Given the description of an element on the screen output the (x, y) to click on. 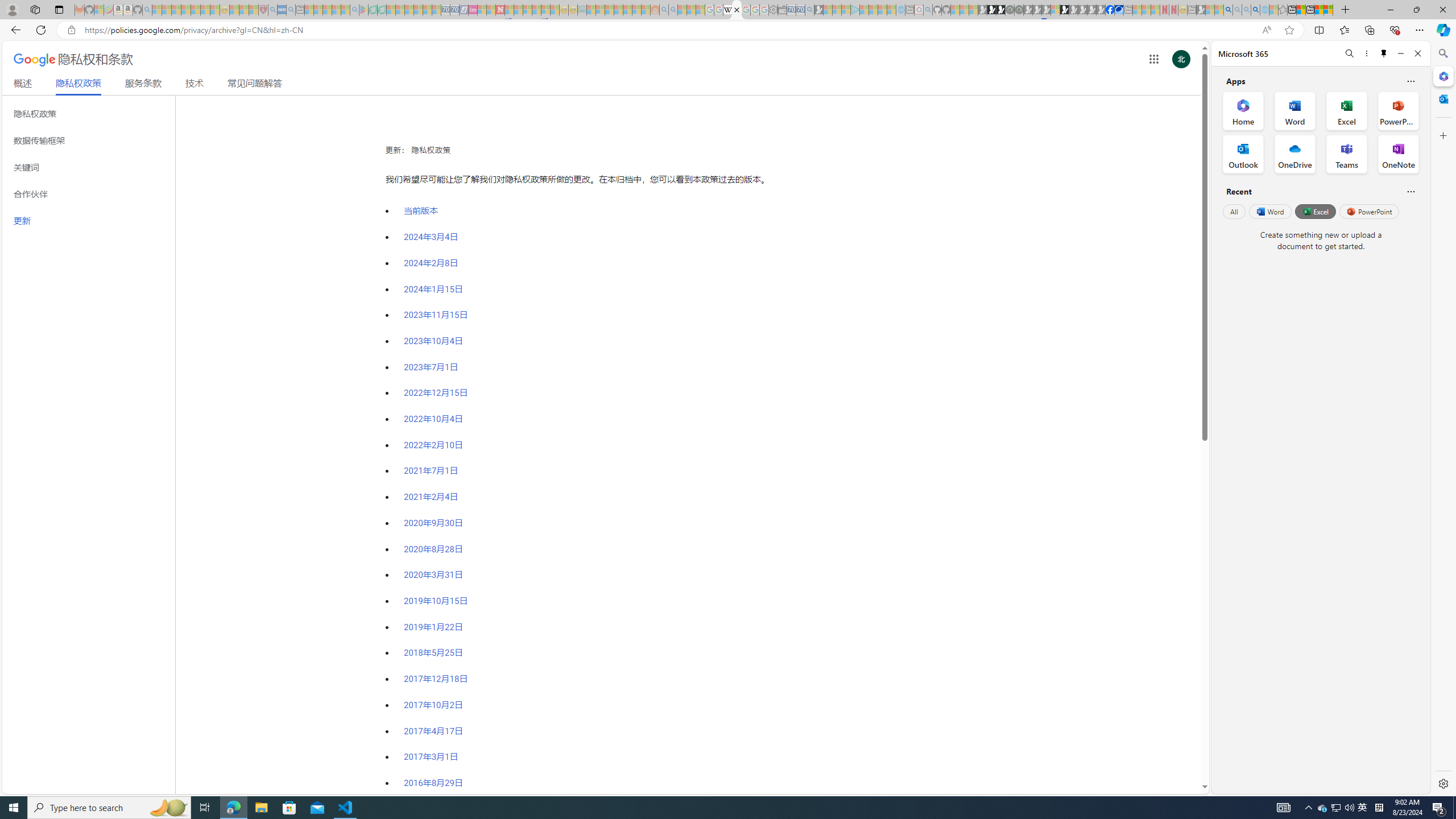
Jobs - lastminute.com Investor Portal - Sleeping (472, 9)
MSN - Sleeping (1200, 9)
AirNow.gov (1118, 9)
OneNote Office App (1398, 154)
